Given the description of an element on the screen output the (x, y) to click on. 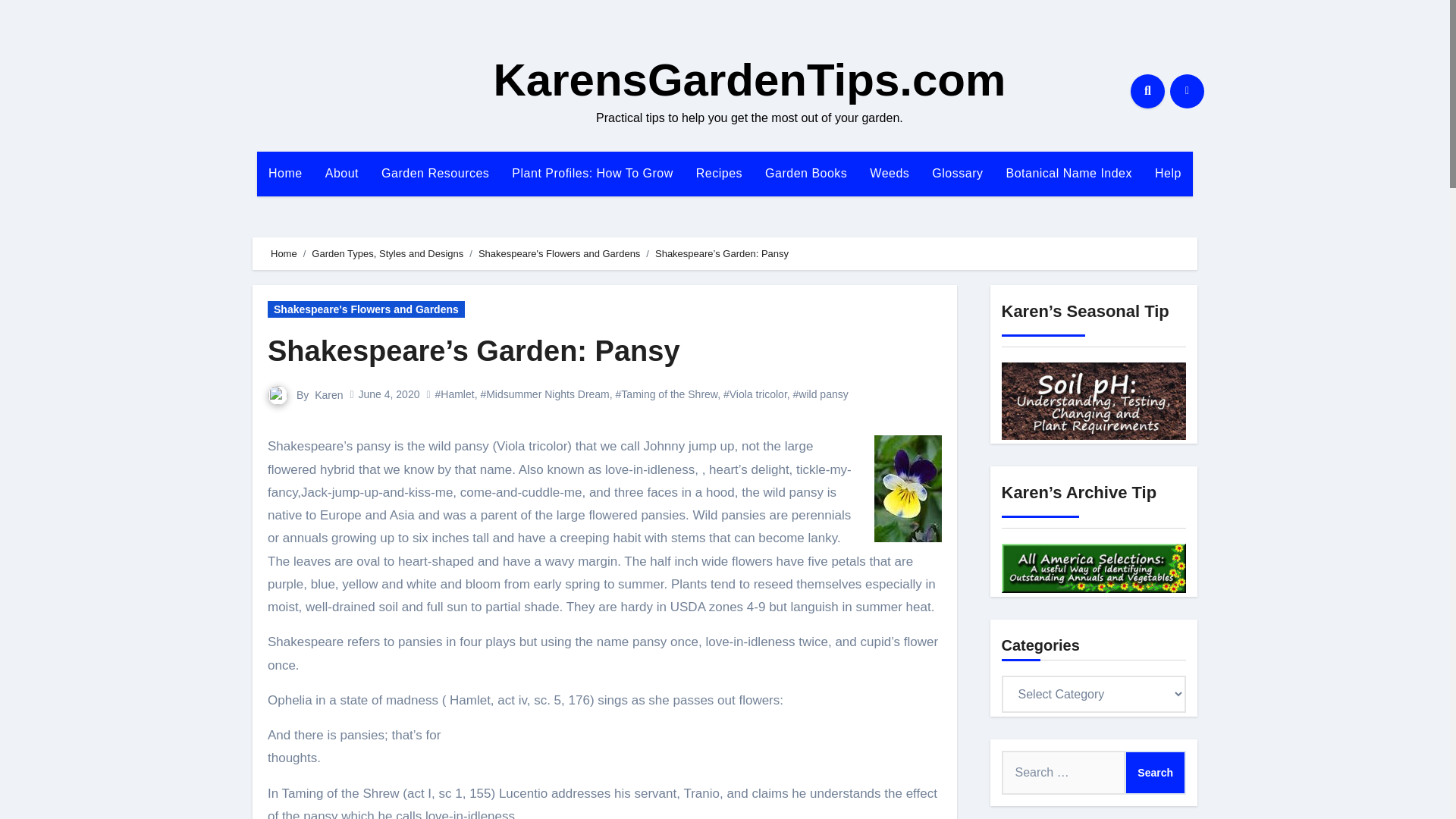
Plant Profiles: How To Grow (592, 173)
Garden Resources (434, 173)
Recipes (719, 173)
Glossary (957, 173)
Help (1167, 173)
Home (283, 253)
Glossary (957, 173)
About (341, 173)
Garden Books (806, 173)
Weeds (889, 173)
Recipes (719, 173)
Search (1155, 772)
Home (285, 173)
Weeds (889, 173)
June 4, 2020 (388, 394)
